Given the description of an element on the screen output the (x, y) to click on. 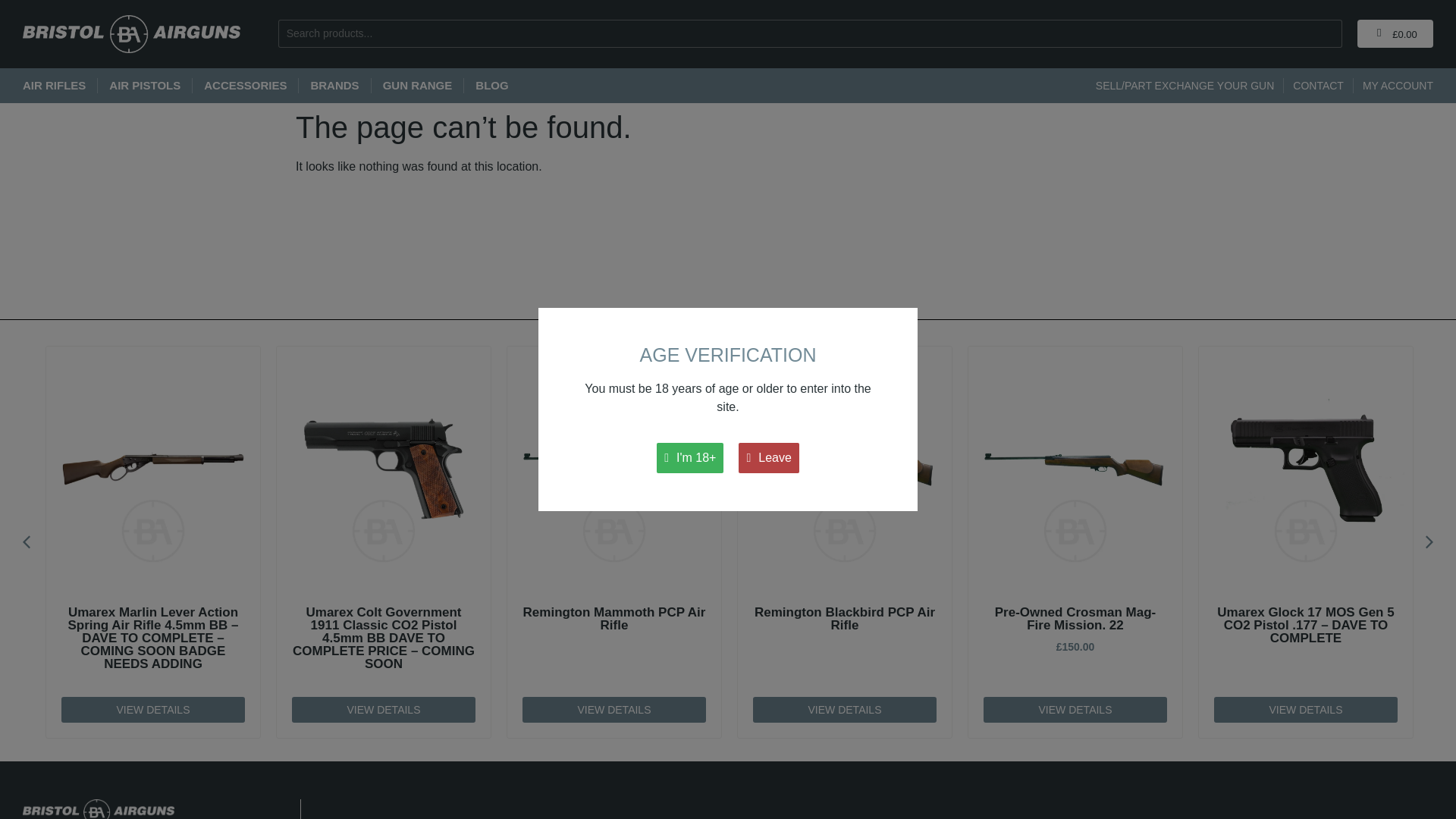
AIR RIFLES (54, 85)
BLOG (492, 85)
ACCESSORIES (244, 85)
BRANDS (334, 85)
MY ACCOUNT (1397, 85)
GUN RANGE (417, 85)
CONTACT (1317, 85)
AIR PISTOLS (144, 85)
